Given the description of an element on the screen output the (x, y) to click on. 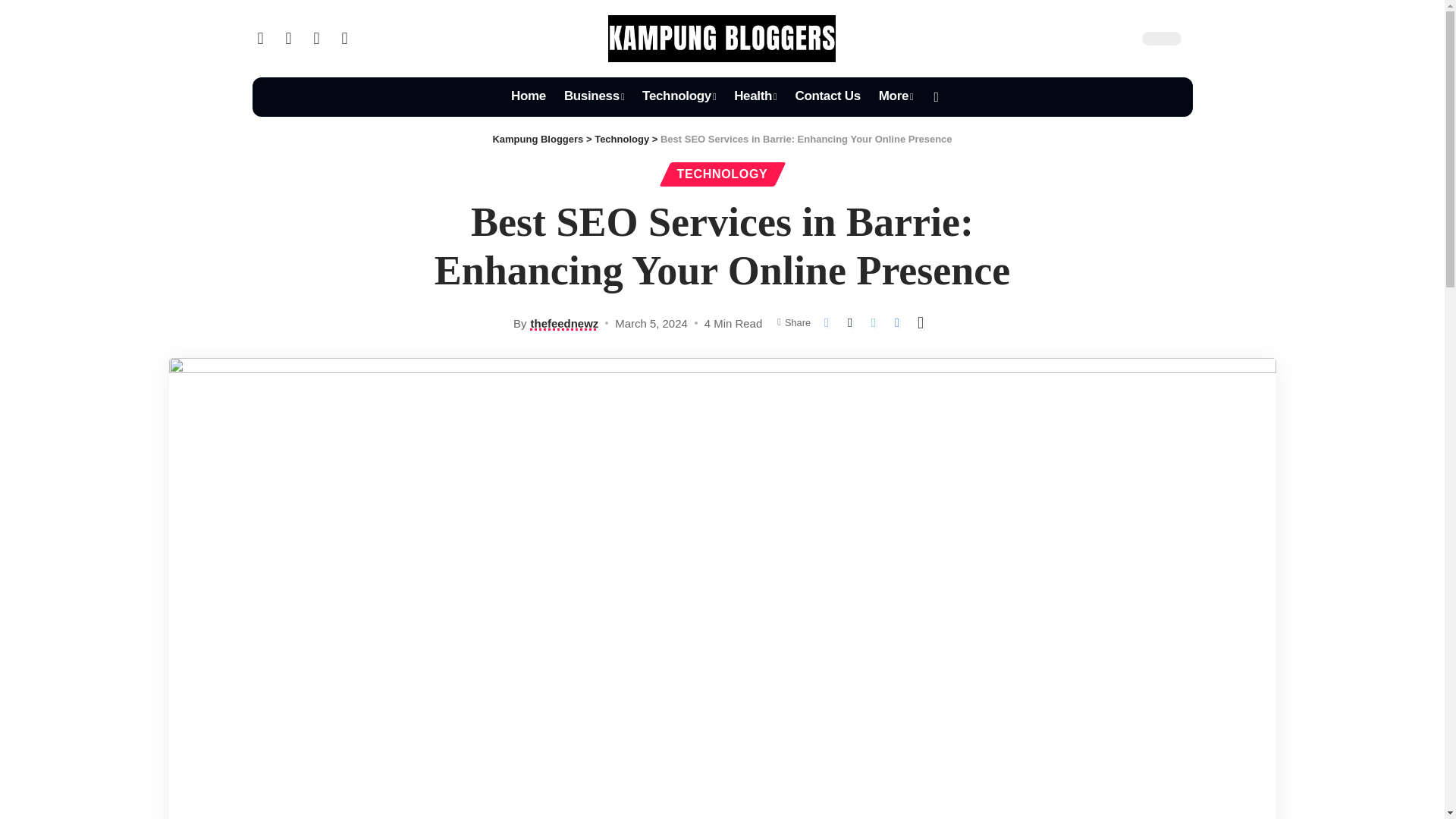
Business (593, 96)
Technology (679, 96)
Home (528, 96)
Health (755, 96)
